Given the description of an element on the screen output the (x, y) to click on. 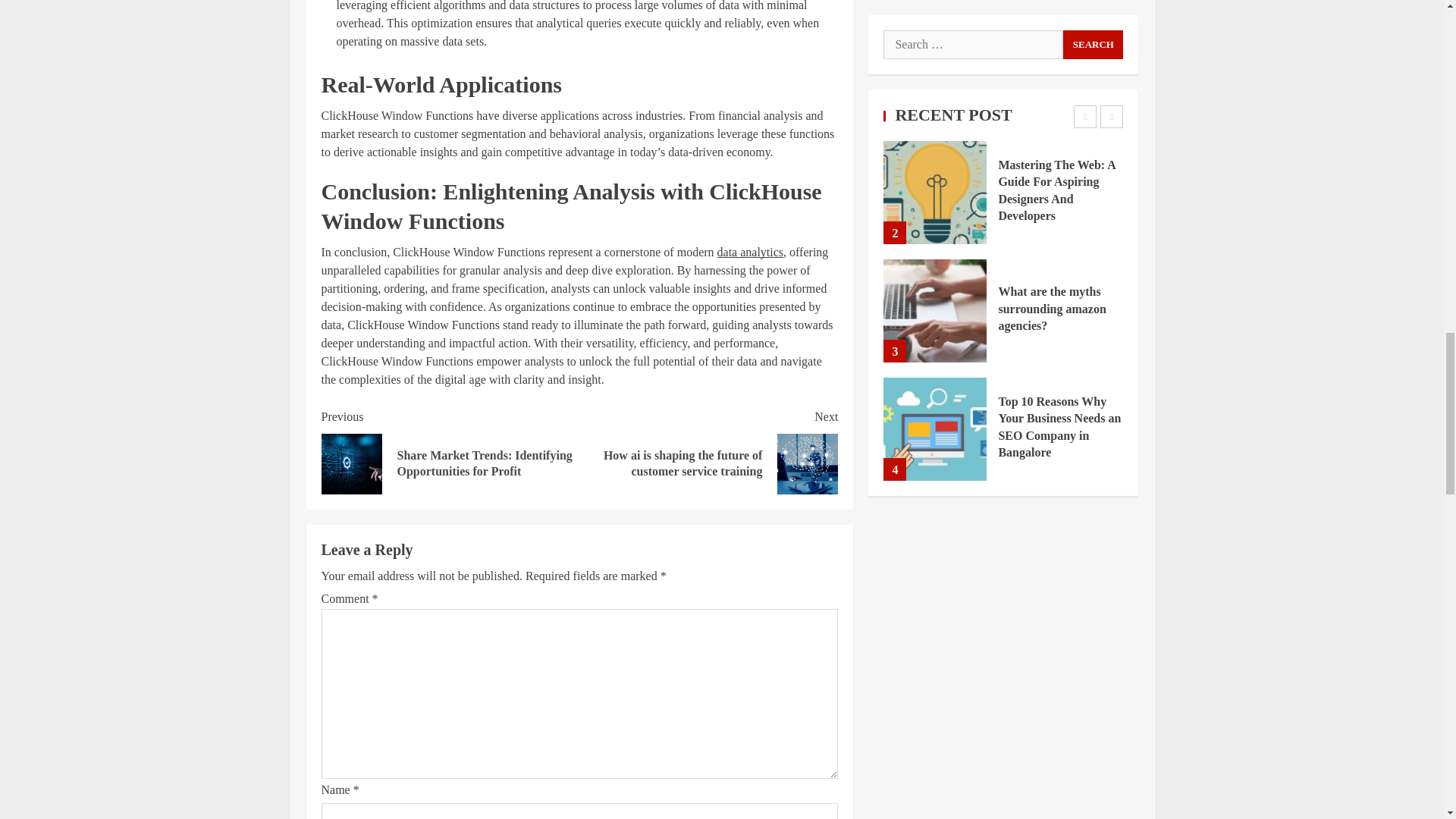
data analytics (750, 251)
